Given the description of an element on the screen output the (x, y) to click on. 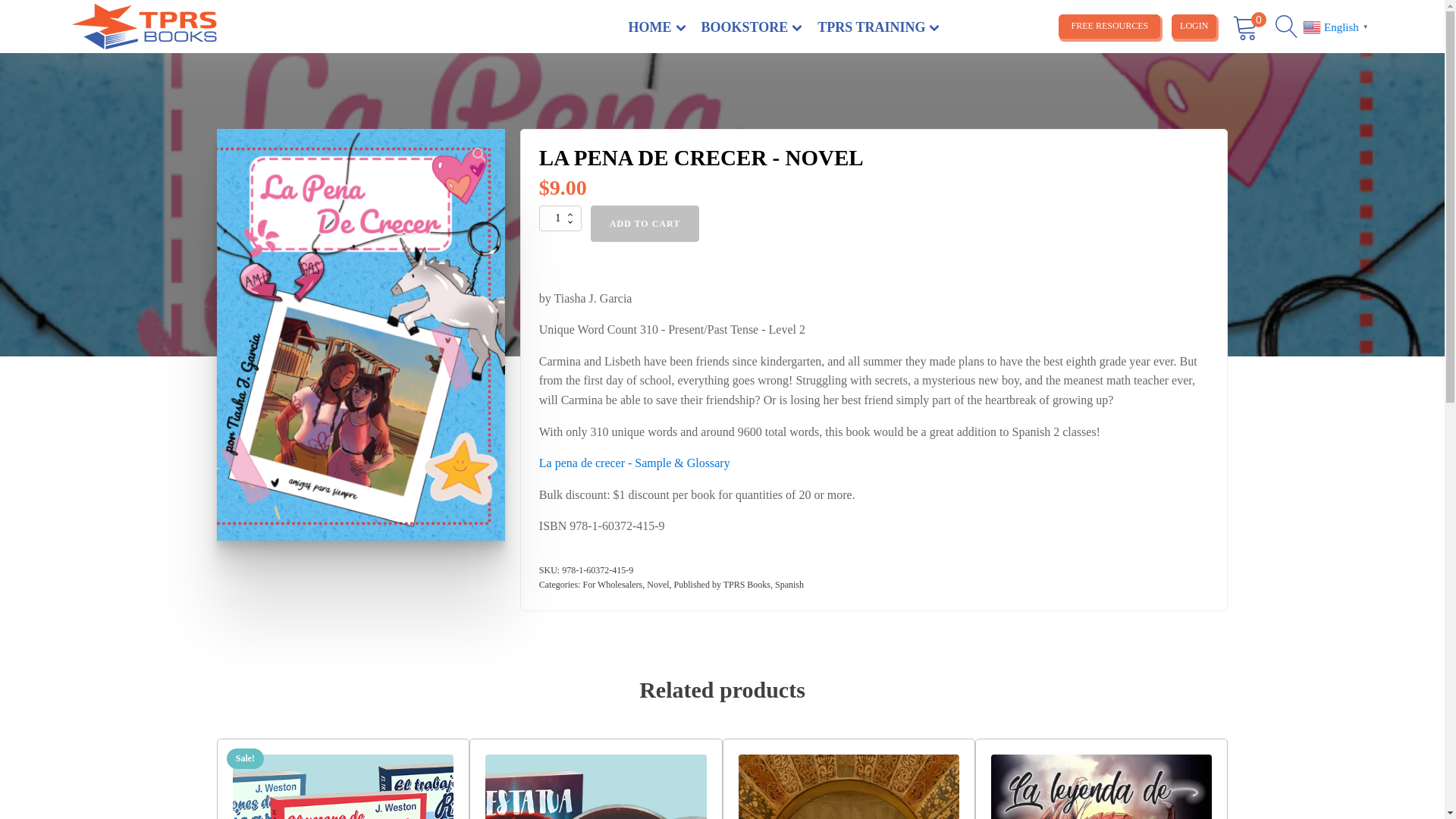
LOGIN (1193, 25)
Search (25, 9)
TPRS TRAINING (878, 28)
1 (559, 217)
FREE RESOURCES (1109, 25)
BOOKSTORE (751, 28)
Qty (559, 217)
HOME (657, 28)
